Given the description of an element on the screen output the (x, y) to click on. 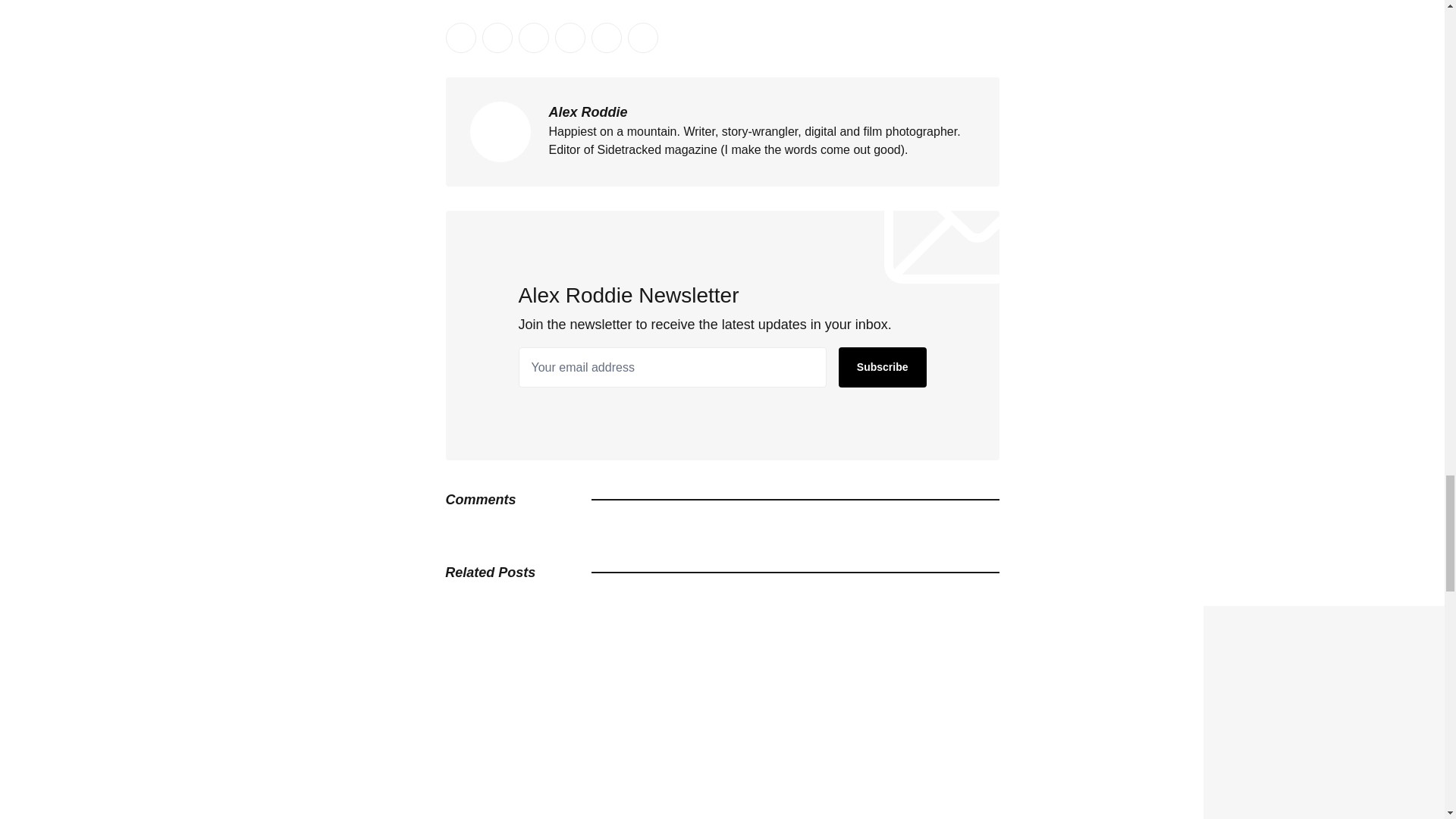
Share via Email (606, 37)
Ten years as a professional writer and editor (1330, 615)
Subscribe (882, 367)
Share on Twitter (460, 37)
Alex Roddie (587, 111)
Copy link (642, 37)
Share on Facebook (496, 37)
Share on LinkedIn (533, 37)
Share on Pinterest (569, 37)
